Given the description of an element on the screen output the (x, y) to click on. 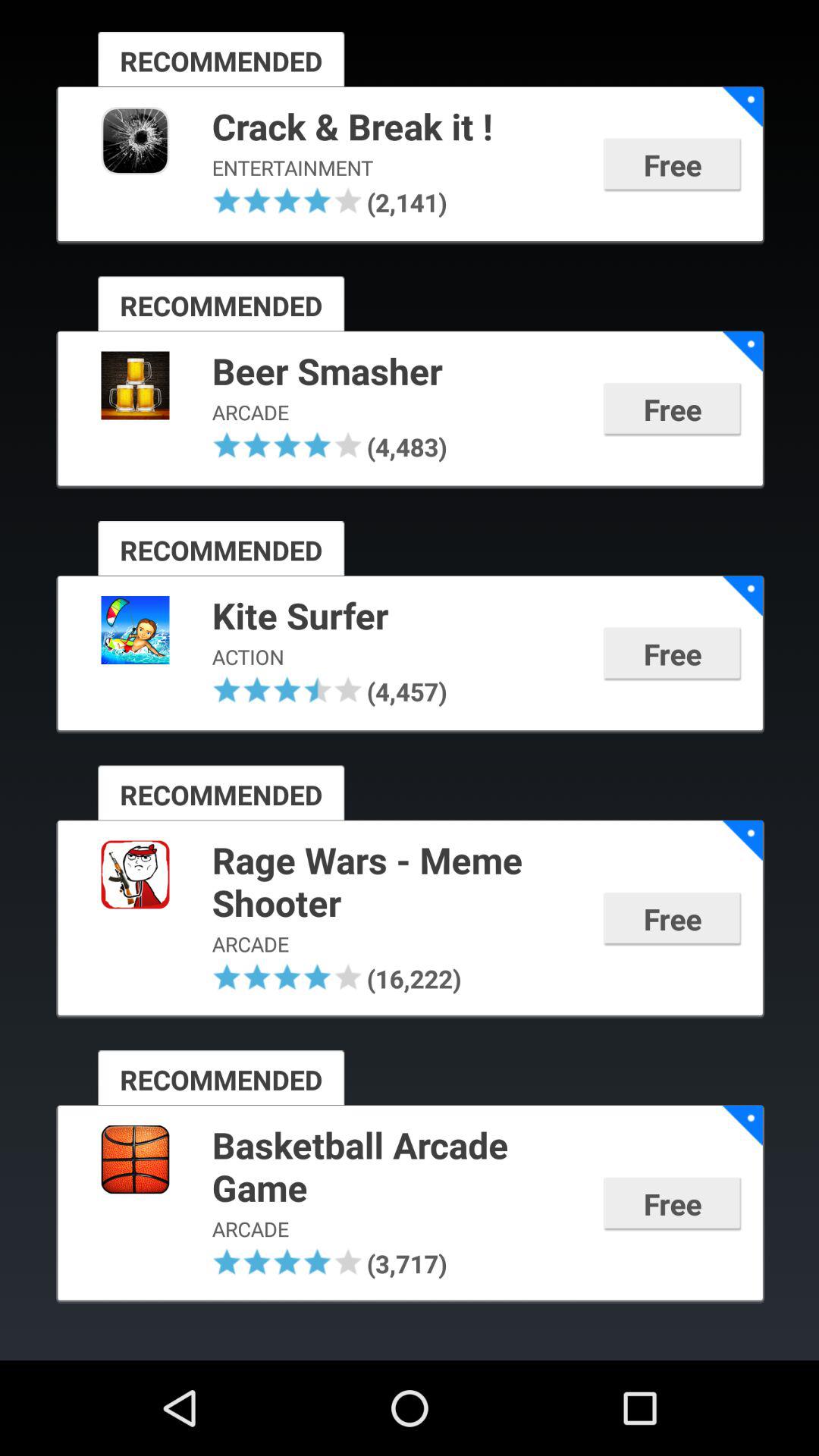
open the icon to the right of basketball arcade game icon (742, 1125)
